Given the description of an element on the screen output the (x, y) to click on. 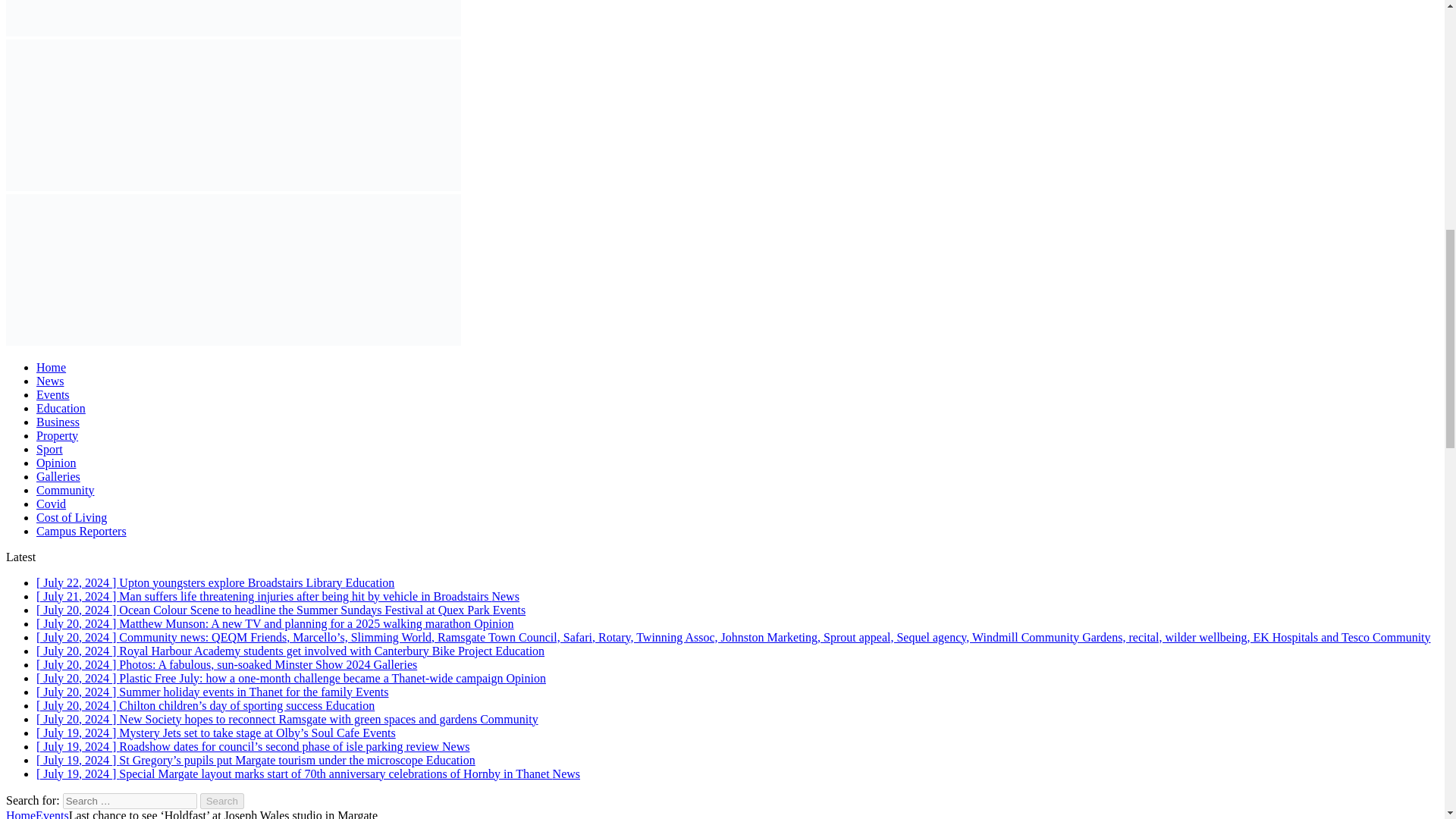
News (50, 380)
Upton youngsters explore Broadstairs Library (215, 582)
Community (65, 490)
Sport (49, 449)
Education (60, 408)
Photos: A fabulous, sun-soaked Minster Show 2024 (226, 664)
Campus Reporters (81, 530)
Galleries (58, 476)
Opinion (55, 462)
Property (57, 435)
Business (58, 421)
